Given the description of an element on the screen output the (x, y) to click on. 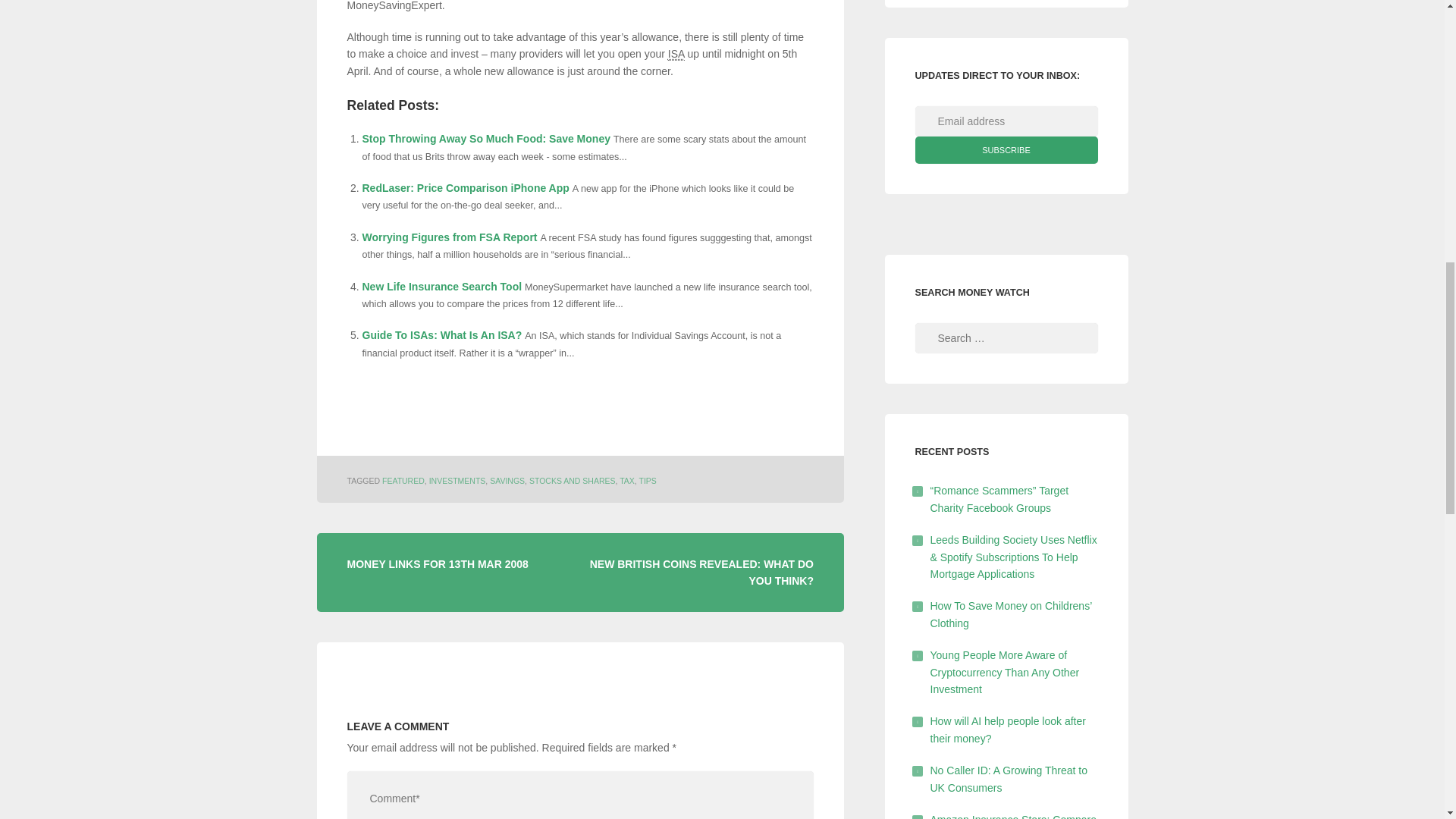
FEATURED (403, 480)
INVESTMENTS (457, 480)
New Life Insurance Search Tool (442, 286)
TAX (627, 480)
TIPS (647, 480)
STOCKS AND SHARES (572, 480)
New Life Insurance Search Tool (442, 286)
RedLaser: Price Comparison iPhone App (465, 187)
Stop Throwing Away So Much Food: Save Money (486, 138)
Email address (1005, 121)
Subscribe (1005, 149)
No Caller ID: A Growing Threat to UK Consumers (1008, 778)
Subscribe (1005, 149)
Amazon Insurance Store: Compare and Purchase Insurance (1013, 816)
